Given the description of an element on the screen output the (x, y) to click on. 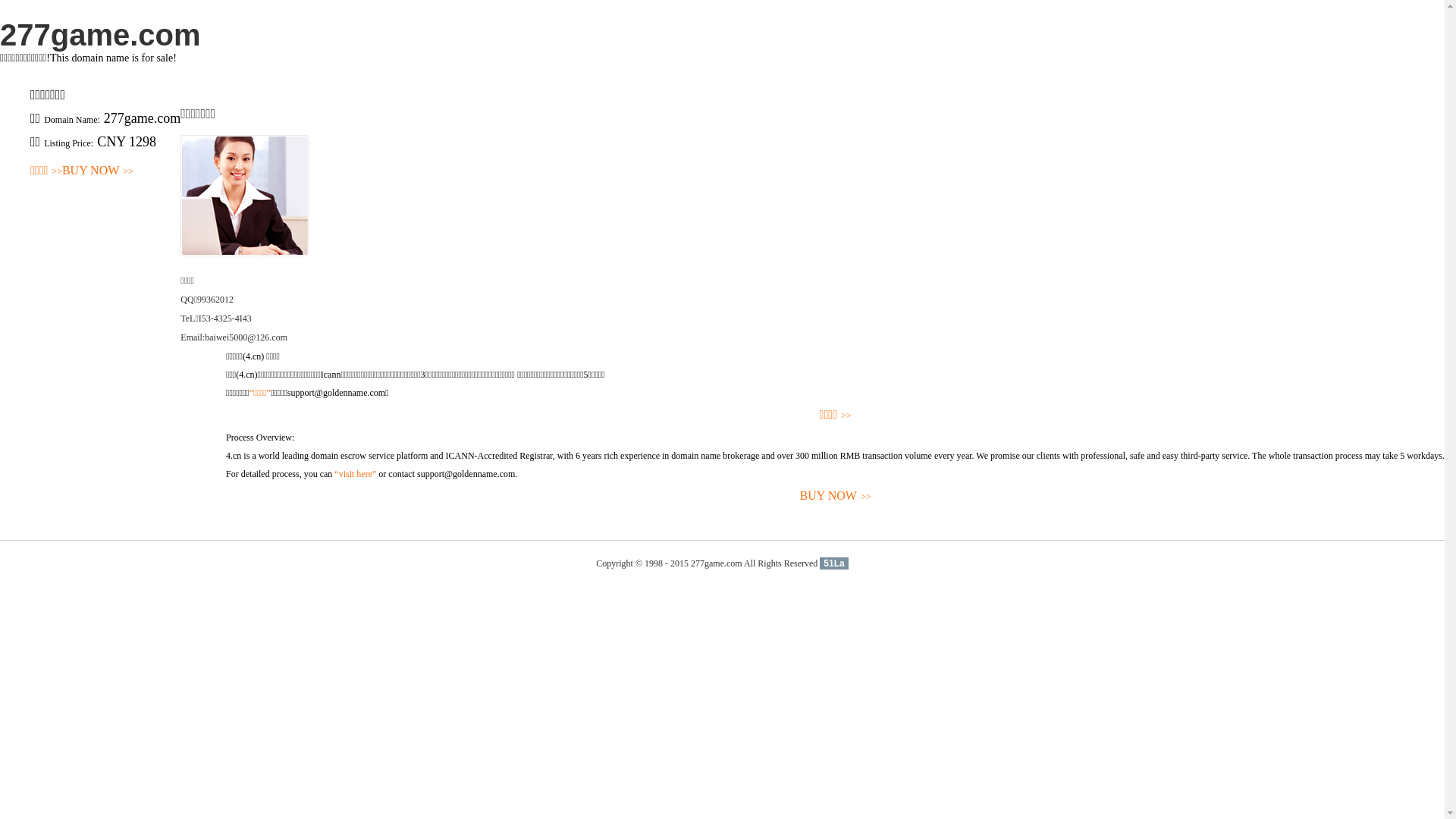
51La Element type: text (833, 563)
BUY NOW>> Element type: text (97, 170)
BUY NOW>> Element type: text (834, 496)
